Given the description of an element on the screen output the (x, y) to click on. 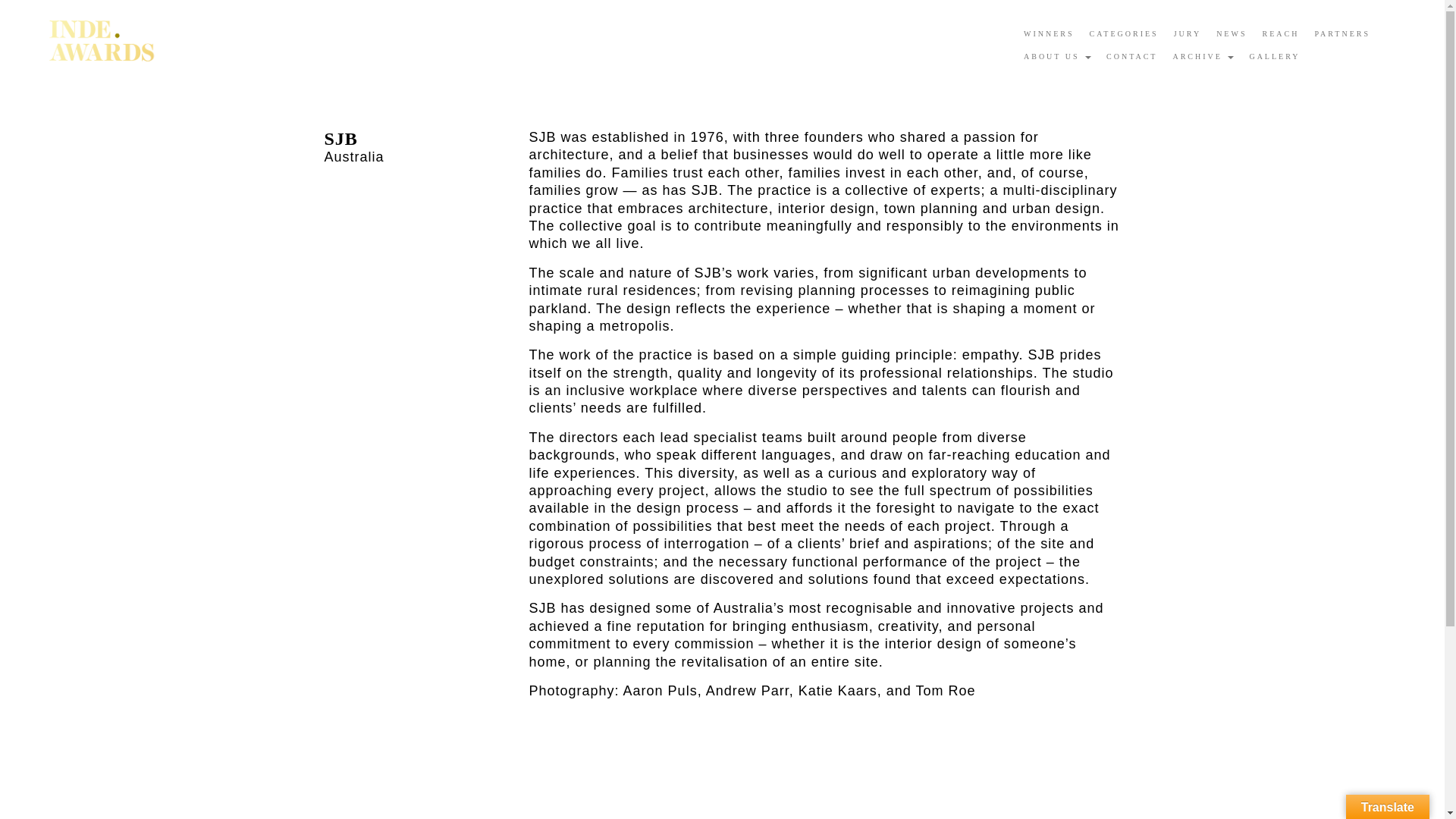
REACH (1279, 33)
ARCHIVE (1202, 56)
JURY (1187, 33)
CONTACT (1131, 56)
ABOUT US (1057, 56)
NEWS (1230, 33)
WINNERS (1048, 33)
CATEGORIES (1123, 33)
PARTNERS (1341, 33)
